Given the description of an element on the screen output the (x, y) to click on. 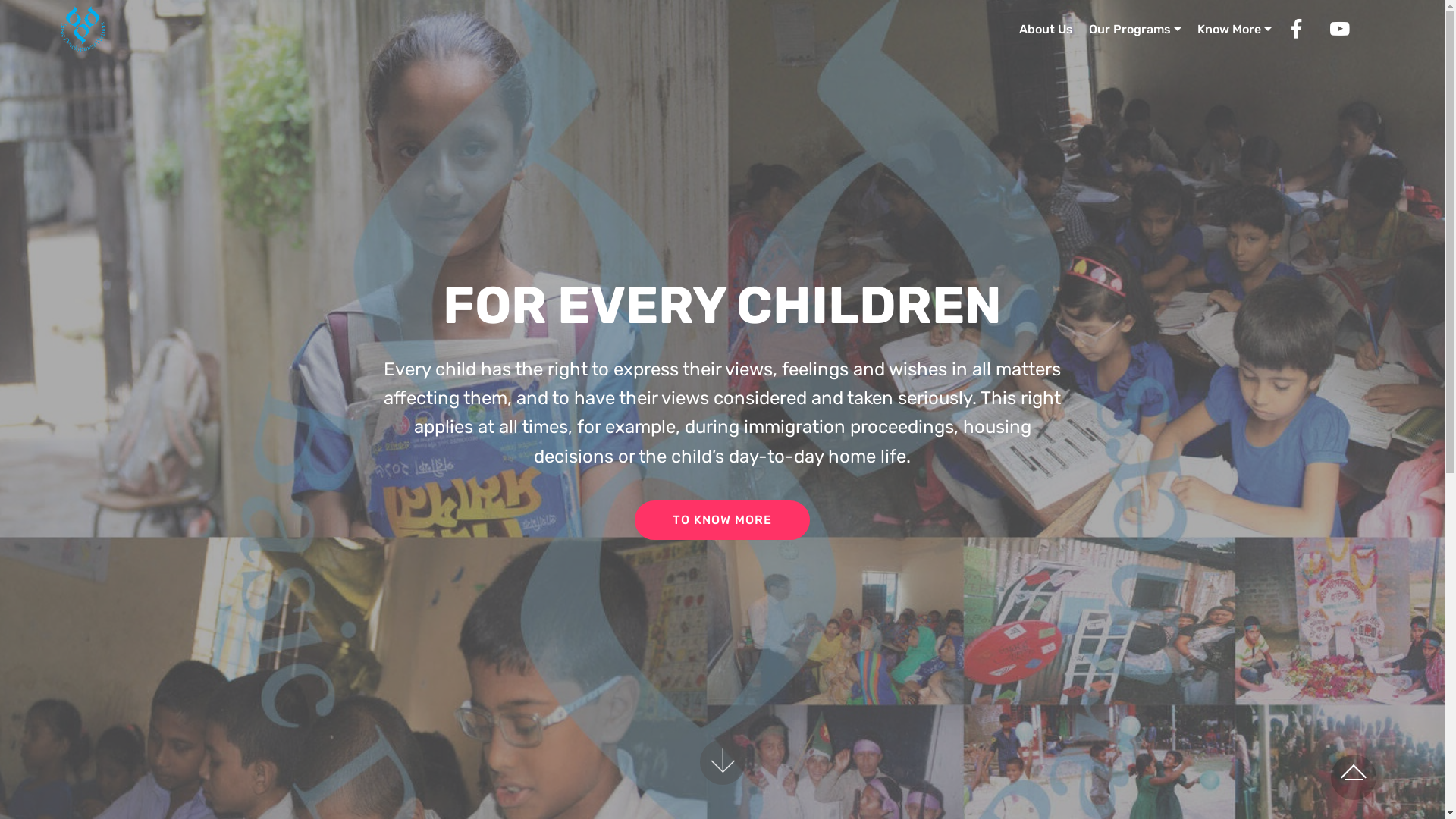
About Us Element type: text (1046, 28)
TO KNOW MORE Element type: text (721, 519)
       Element type: text (1352, 28)
Know More Element type: text (1234, 28)
Our Programs Element type: text (1134, 28)
